Given the description of an element on the screen output the (x, y) to click on. 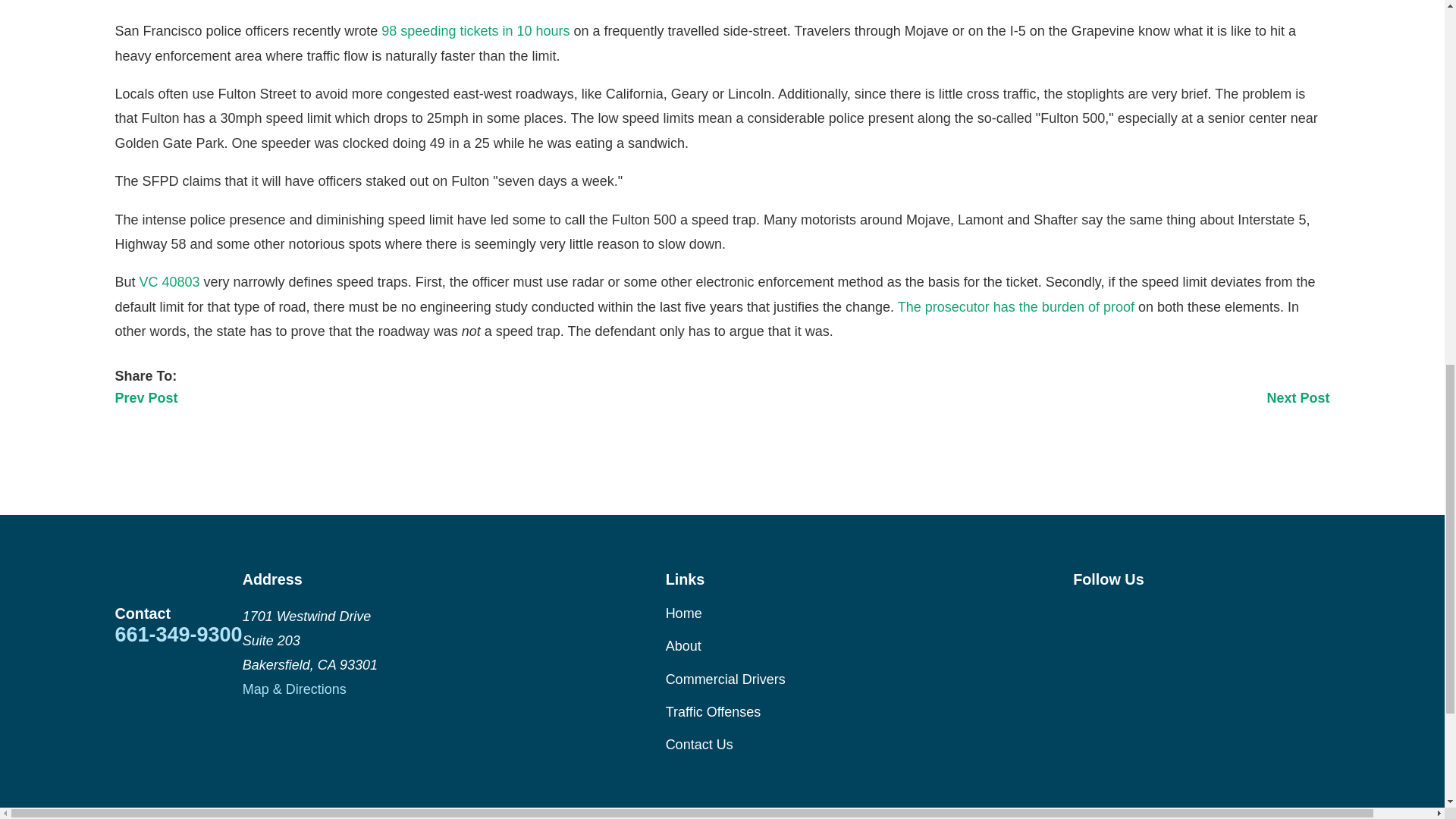
Gentlemen, Start Your Engines (475, 30)
Are Speed Traps Entrapment? (1016, 306)
VC 40803 (169, 281)
